Given the description of an element on the screen output the (x, y) to click on. 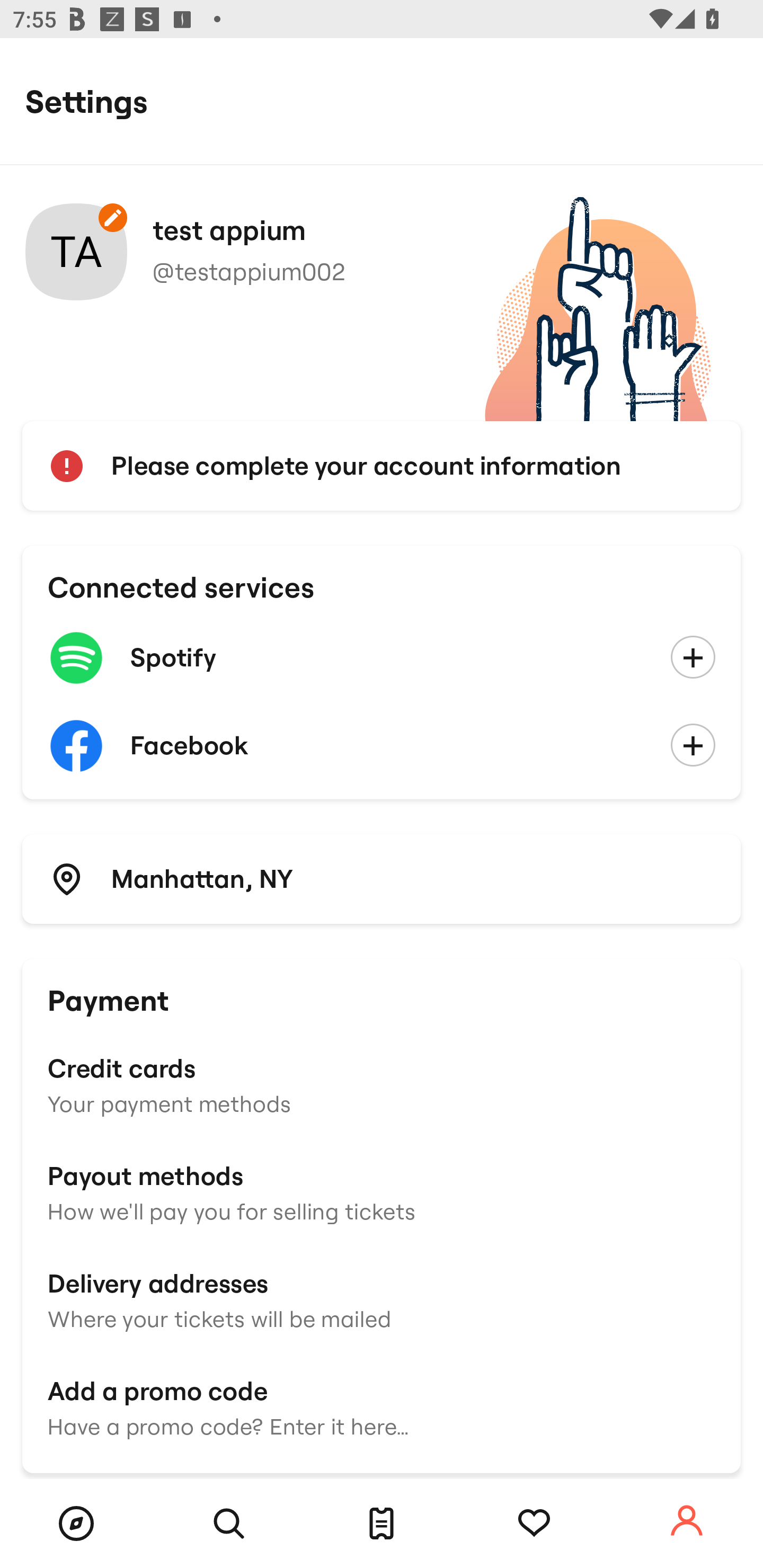
Your account photo (76, 252)
Please complete your account information (381, 466)
Spotify (381, 658)
Facebook (381, 746)
Manhattan, NY (381, 878)
Credit cards Your payment methods (381, 1084)
Add a promo code Have a promo code? Enter it here… (381, 1406)
Browse (76, 1523)
Search (228, 1523)
Tickets (381, 1523)
Tracking (533, 1523)
Account (686, 1521)
